Given the description of an element on the screen output the (x, y) to click on. 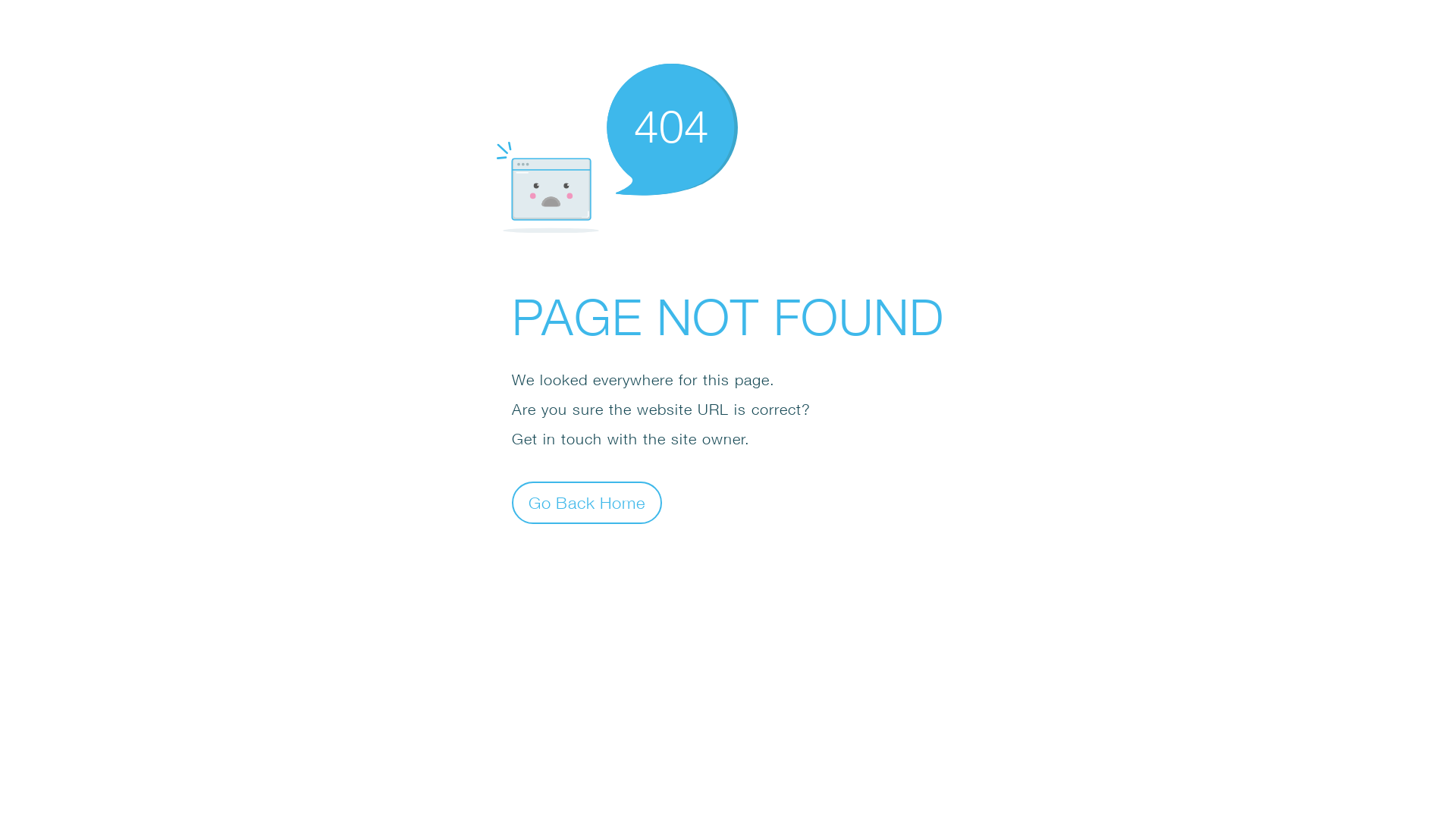
Go Back Home Element type: text (586, 502)
